Given the description of an element on the screen output the (x, y) to click on. 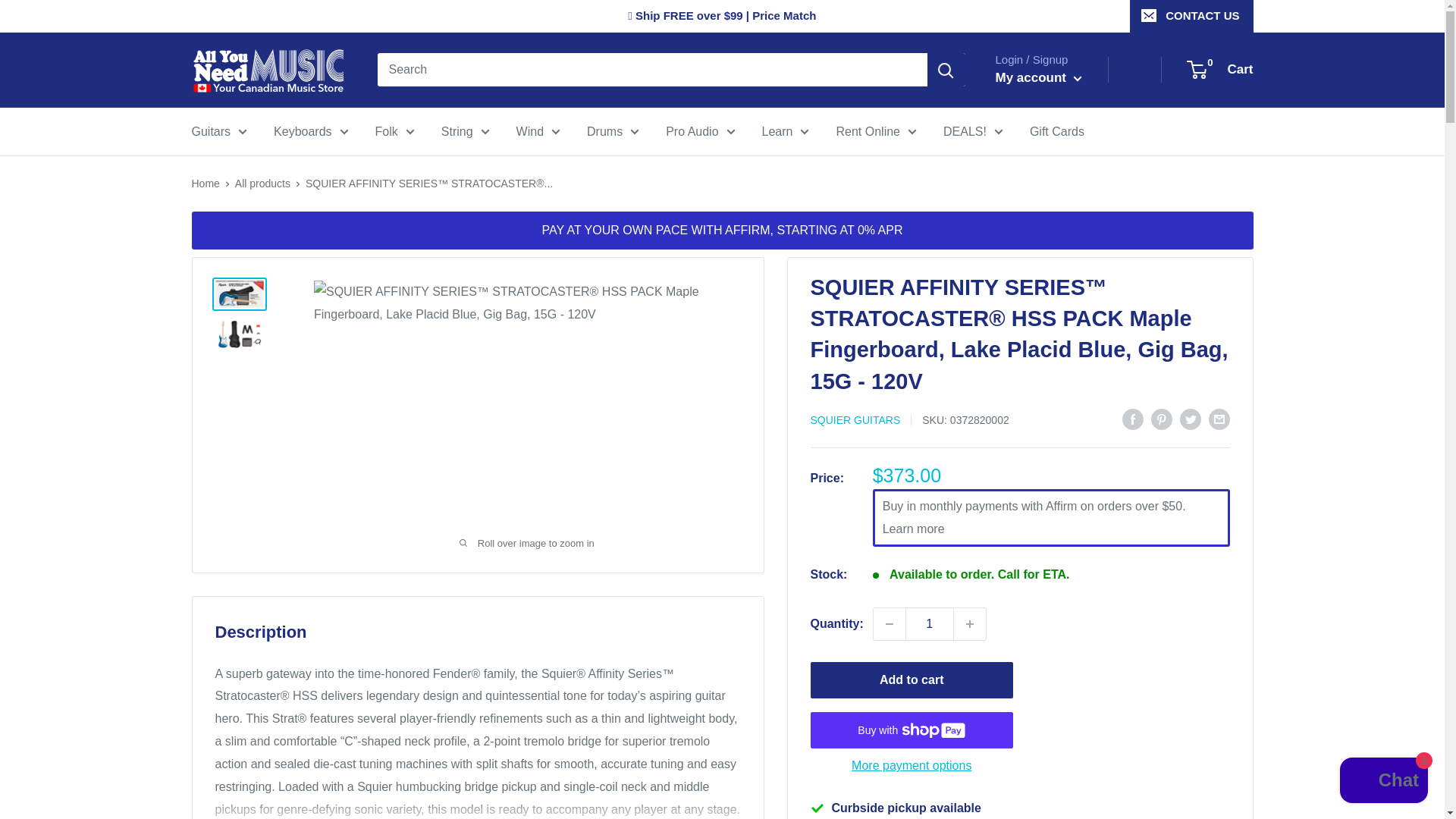
CONTACT US (1190, 15)
Decrease quantity by 1 (889, 623)
Shopify online store chat (1383, 781)
Increase quantity by 1 (969, 623)
1 (929, 623)
